Given the description of an element on the screen output the (x, y) to click on. 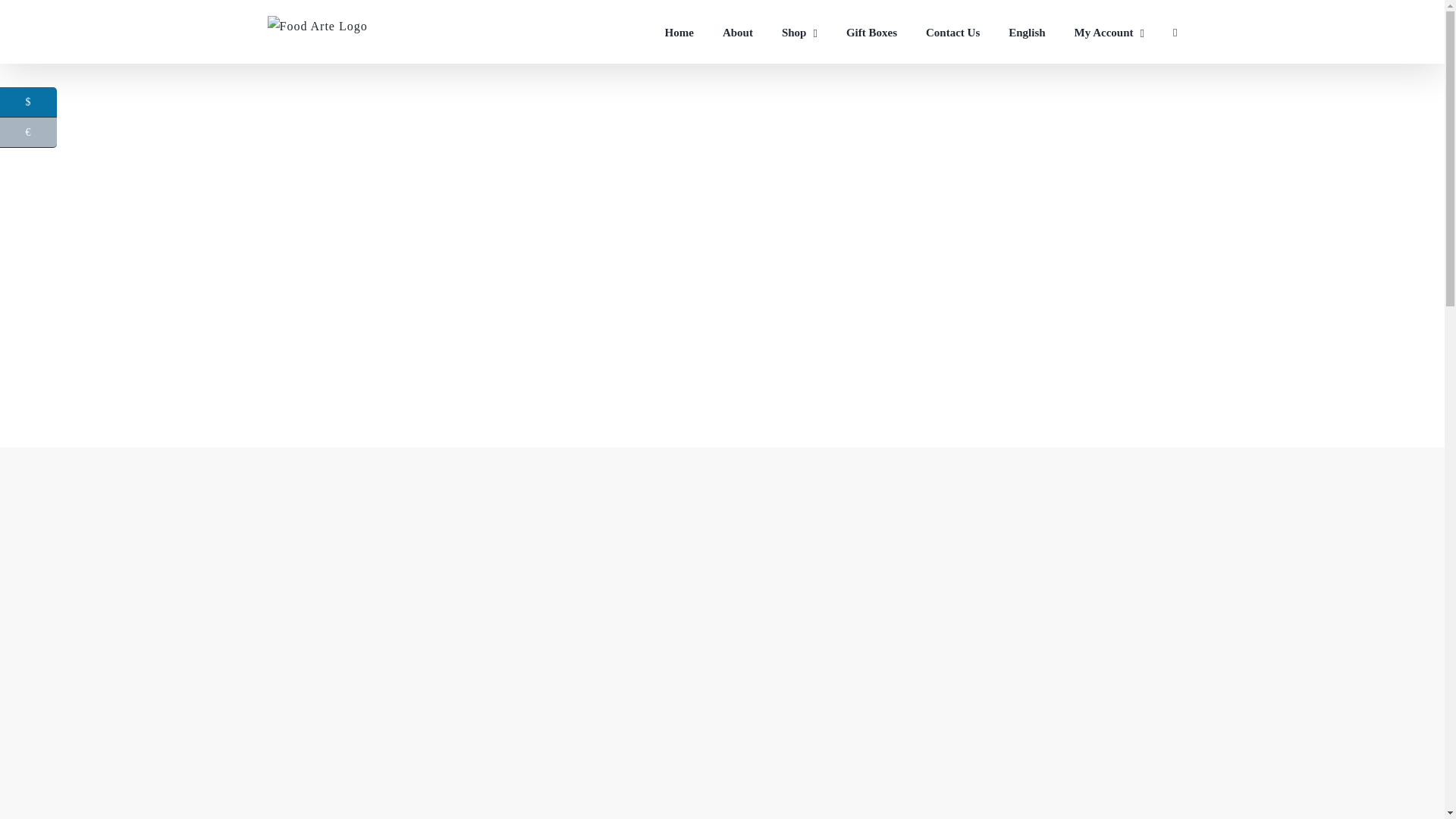
Log In (1161, 206)
My Account (1109, 31)
